Given the description of an element on the screen output the (x, y) to click on. 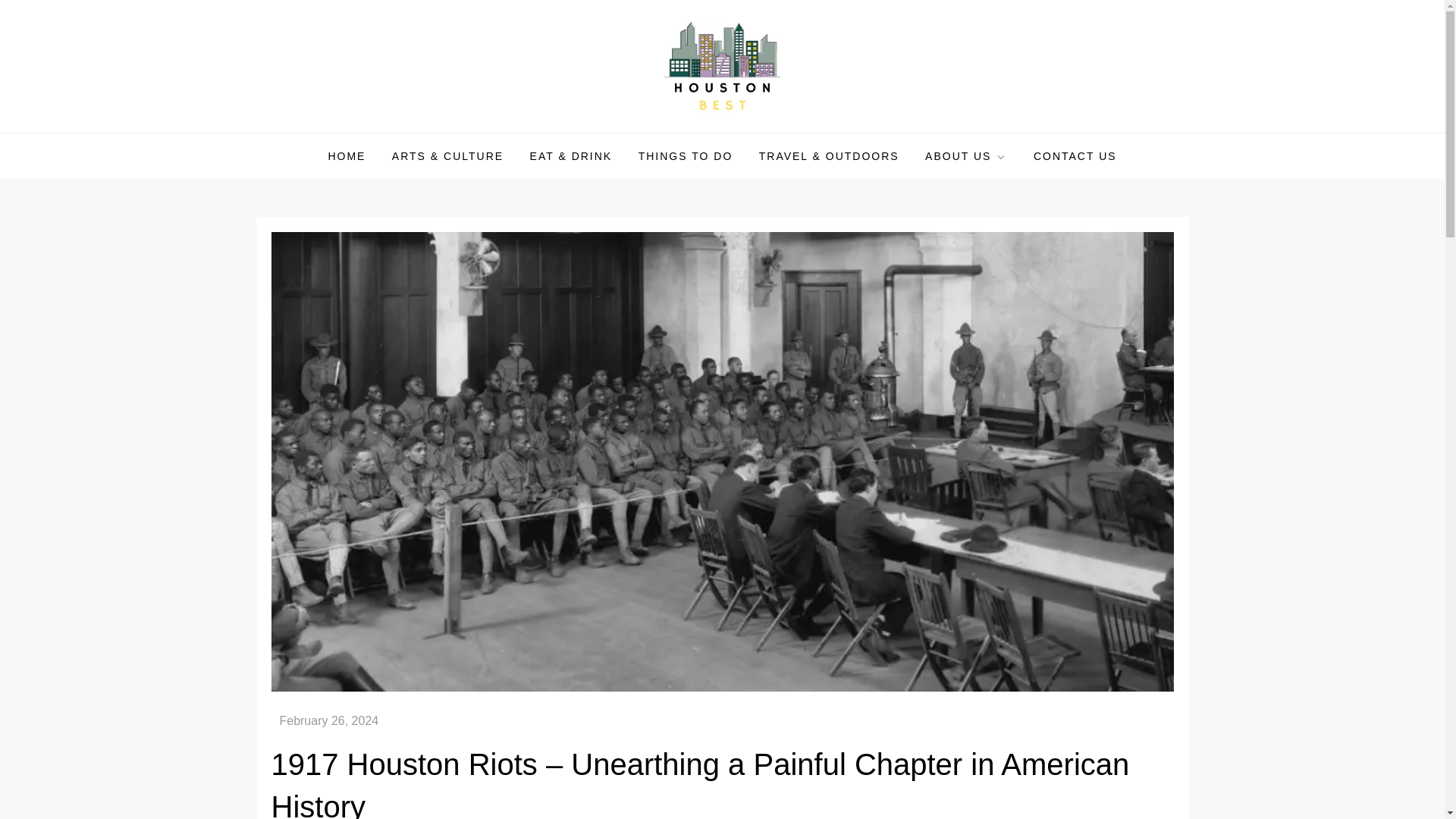
February 26, 2024 (328, 720)
THINGS TO DO (685, 156)
CONTACT US (1075, 156)
ABOUT US (965, 156)
Houston Best (347, 131)
HOME (346, 156)
